Given the description of an element on the screen output the (x, y) to click on. 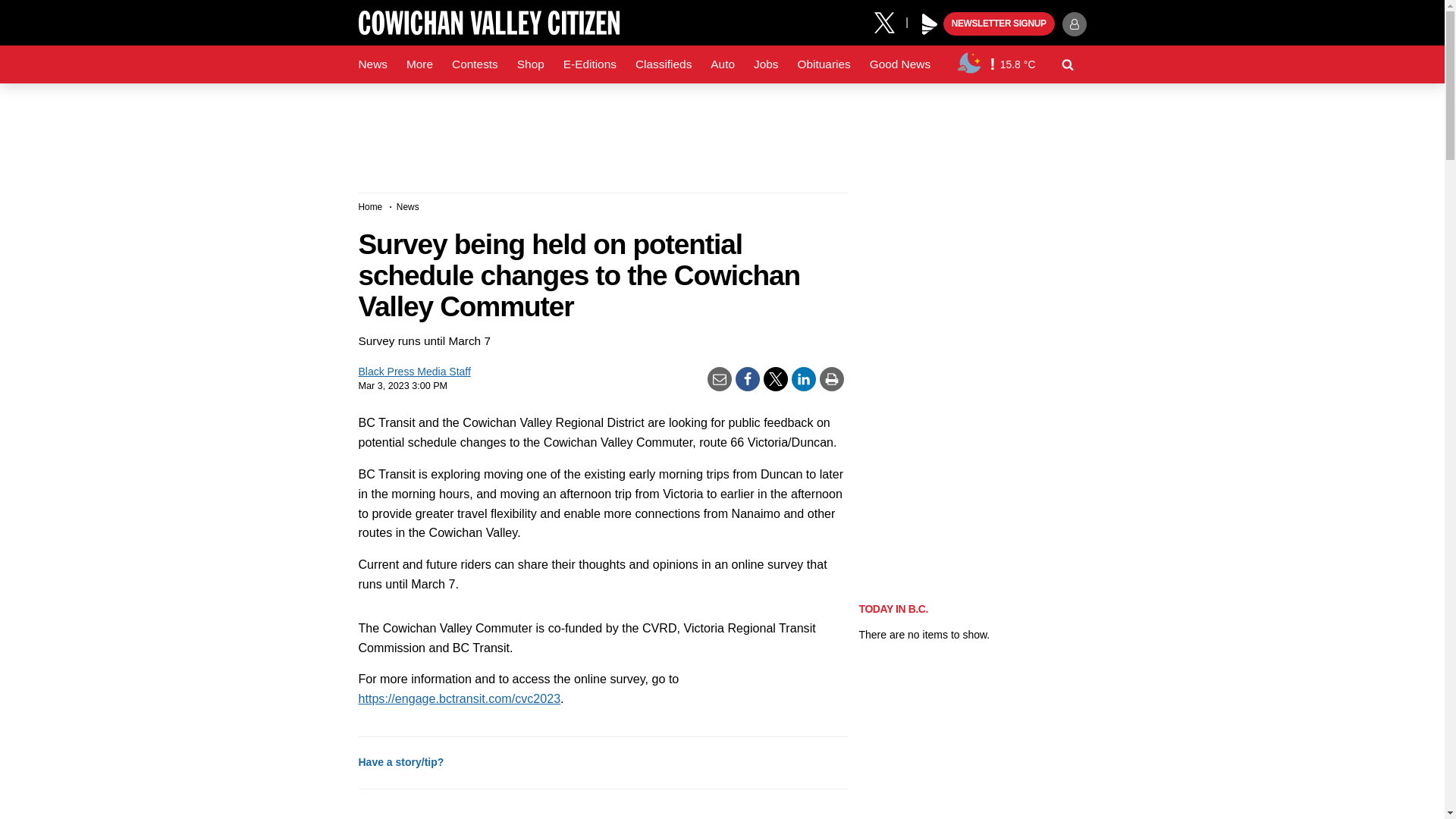
Play (929, 24)
X (889, 21)
Black Press Media (929, 24)
NEWSLETTER SIGNUP (998, 24)
News (372, 64)
3rd party ad content (721, 131)
